Given the description of an element on the screen output the (x, y) to click on. 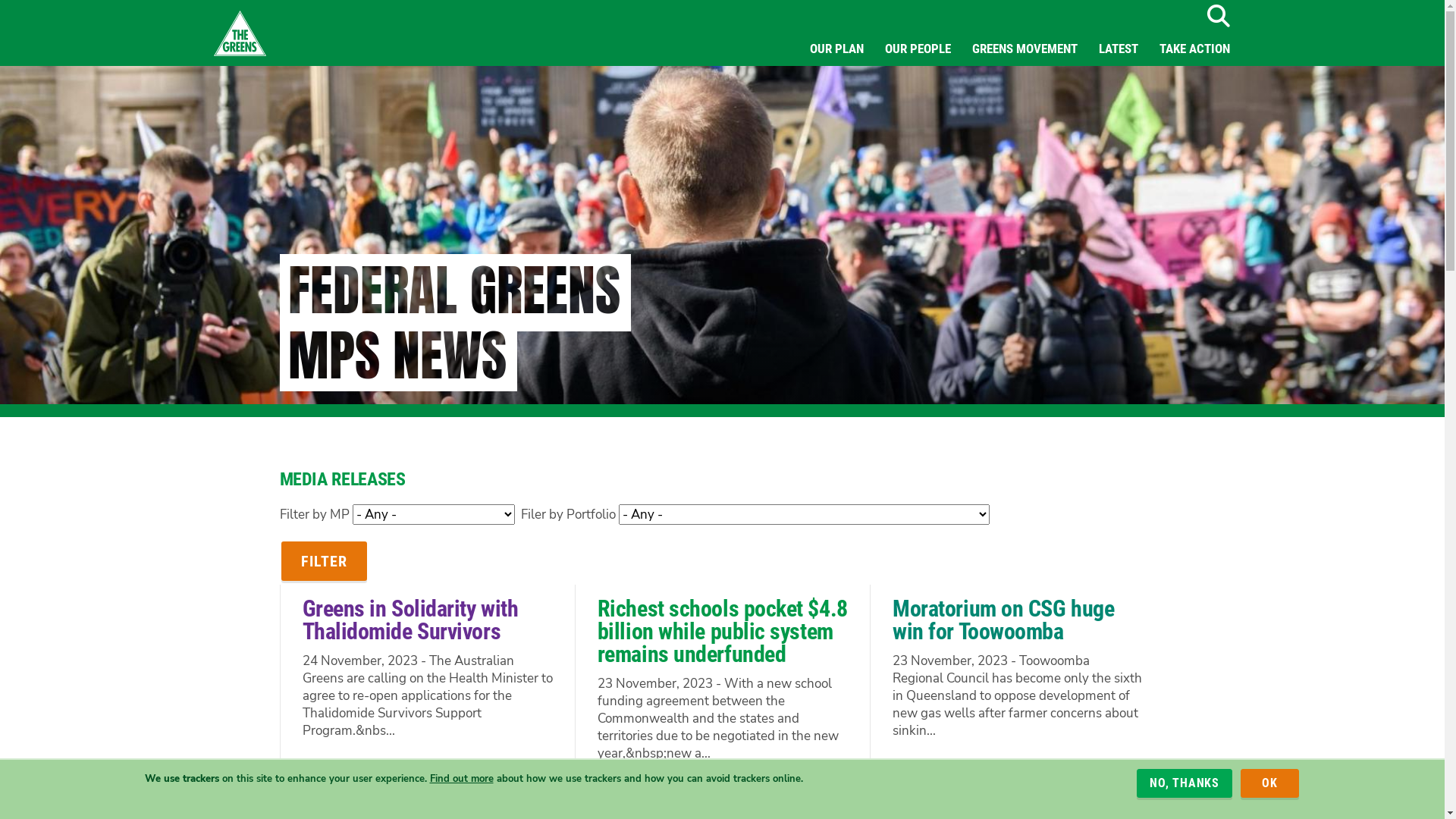
LATEST Element type: text (1117, 48)
Find out more Element type: text (460, 778)
Greens in Solidarity with Thalidomide Survivors Element type: text (409, 619)
OUR PLAN Element type: text (836, 48)
Search Element type: text (1217, 15)
NO, THANKS Element type: text (1184, 782)
TAKE ACTION Element type: text (1193, 48)
OK Element type: text (1269, 782)
OUR PEOPLE Element type: text (916, 48)
Skip to main content Element type: text (0, 0)
Moratorium on CSG huge win for Toowoomba Element type: text (1002, 619)
GREENS MOVEMENT Element type: text (1024, 48)
Filter Element type: text (323, 560)
